Given the description of an element on the screen output the (x, y) to click on. 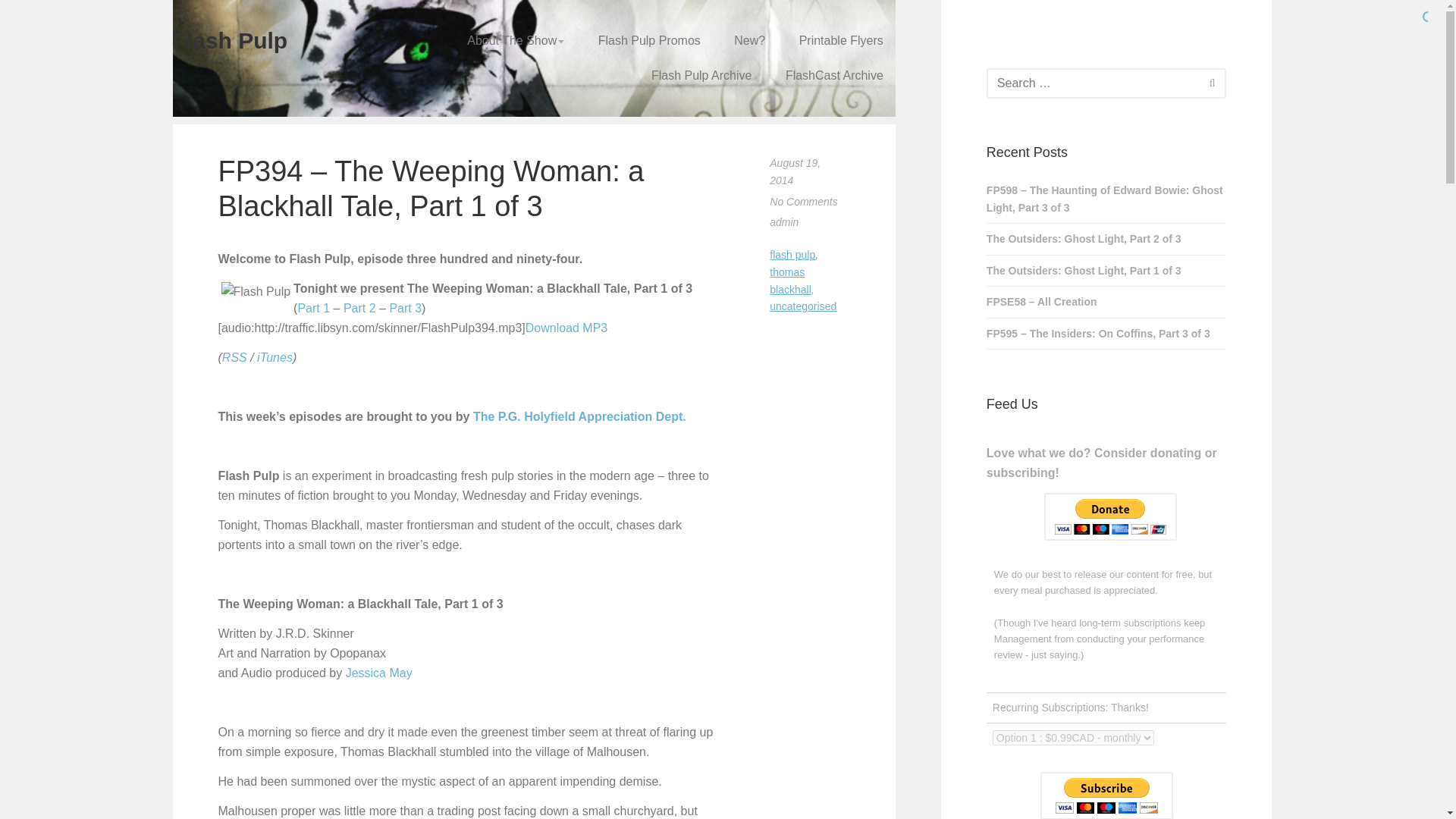
Jessica May (379, 672)
Flash Pulp (230, 40)
flash pulp (792, 254)
Printable Flyers (841, 40)
iTunes (274, 357)
Flash Pulp (256, 291)
thomas blackhall (790, 280)
RSS (234, 357)
August 19, 2014 (795, 171)
Flash Pulp Promos (648, 40)
